Given the description of an element on the screen output the (x, y) to click on. 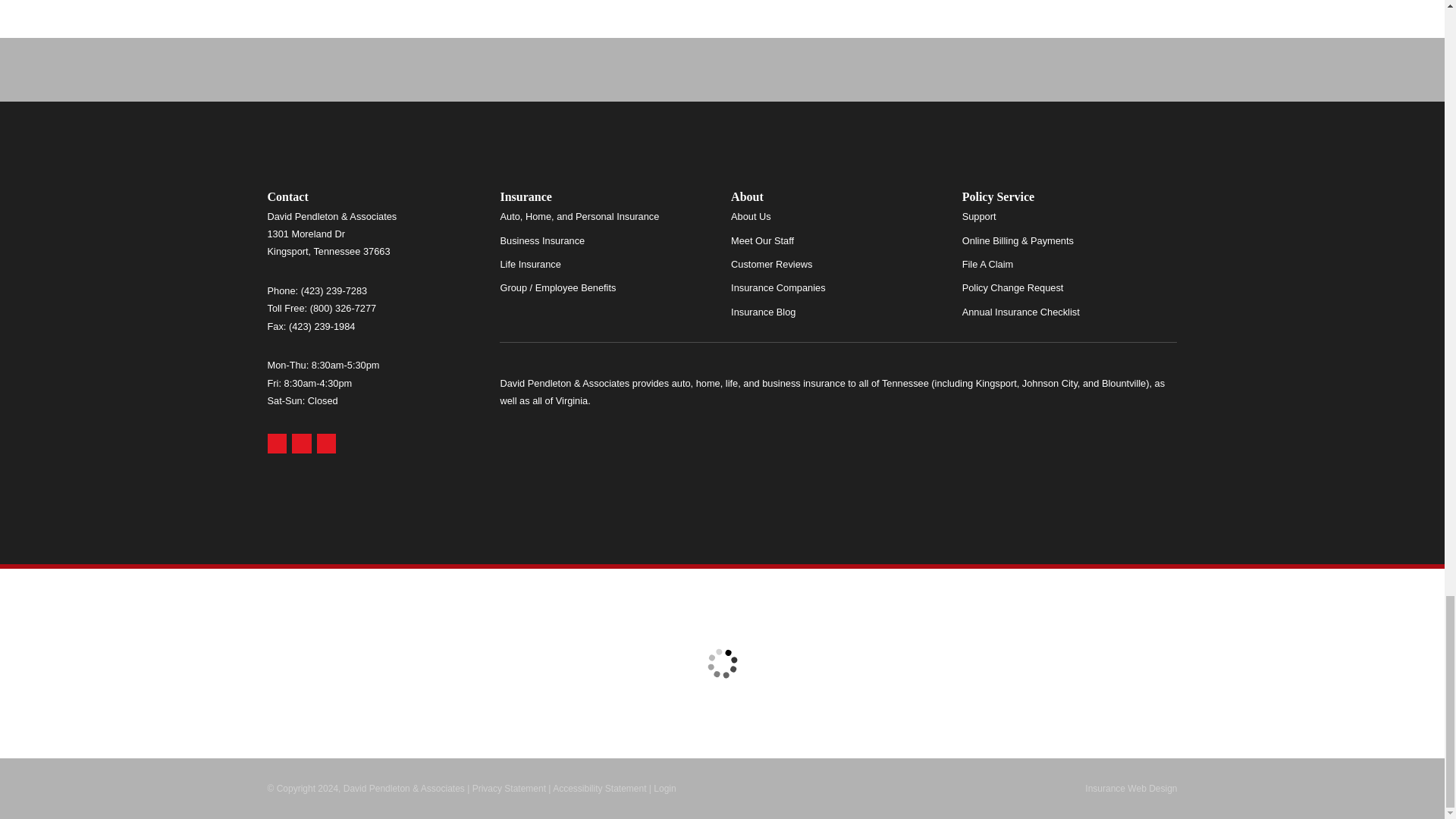
Facebook (326, 443)
Google Maps (276, 443)
Yelp (301, 443)
